Given the description of an element on the screen output the (x, y) to click on. 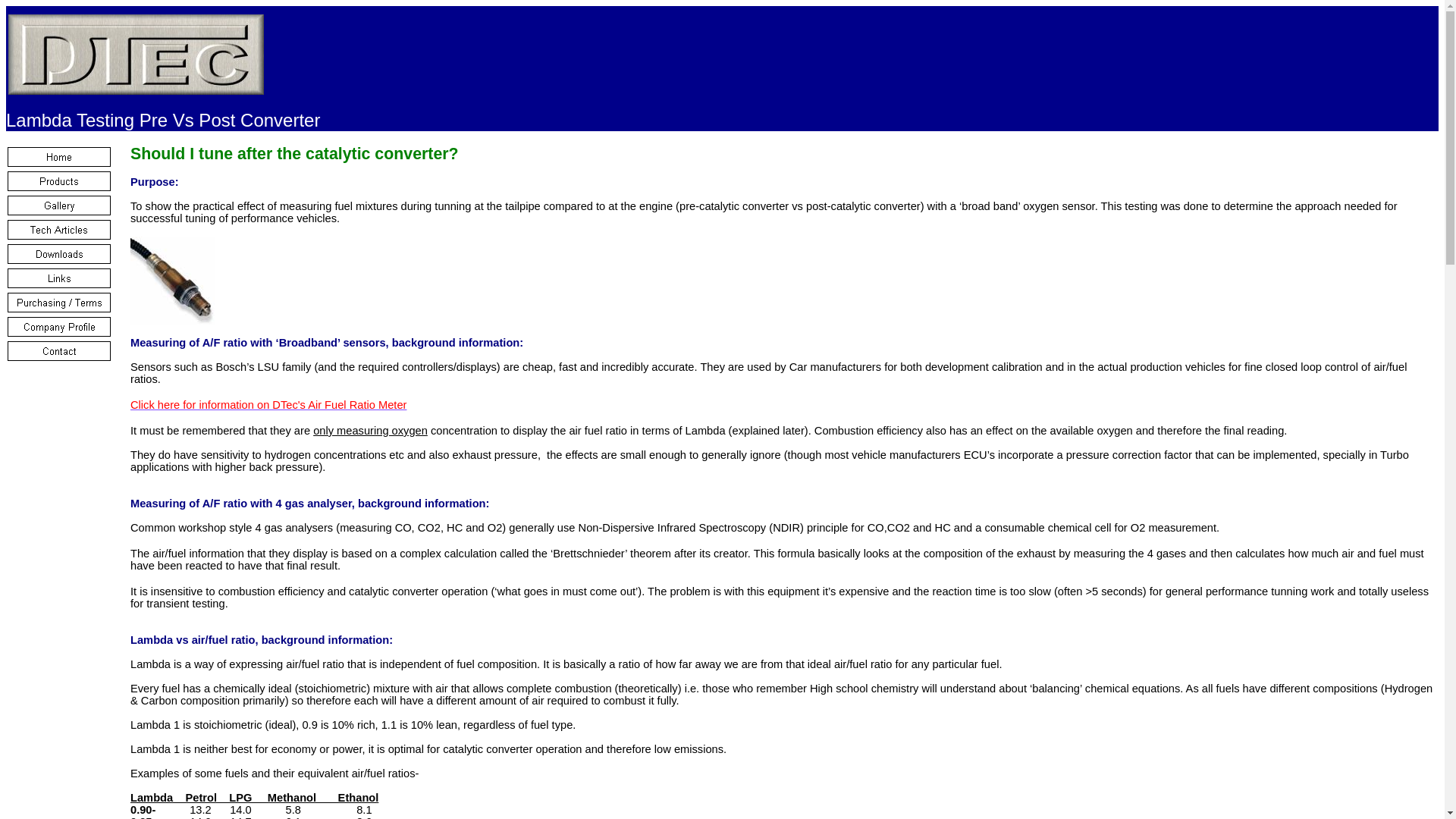
Click here for information on DTec's Air Fuel Ratio Meter Element type: text (268, 404)
